Given the description of an element on the screen output the (x, y) to click on. 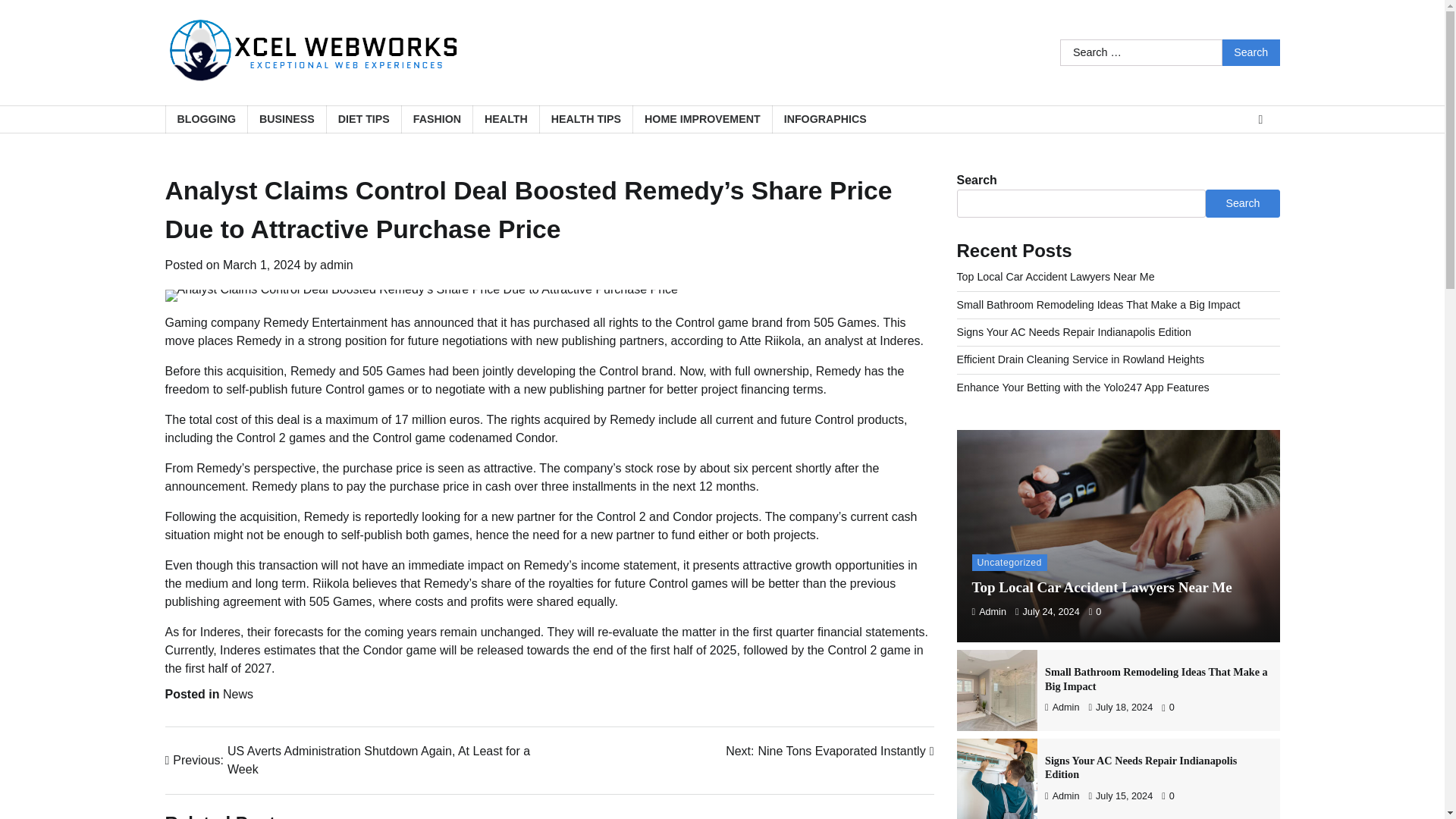
HEALTH TIPS (584, 119)
INFOGRAPHICS (824, 119)
DIET TIPS (363, 119)
FASHION (436, 119)
View Random Post (1260, 119)
Search (1251, 52)
March 1, 2024 (260, 264)
admin (336, 264)
BLOGGING (206, 119)
HEALTH (504, 119)
Search (1251, 52)
News (829, 751)
Search (237, 694)
